Given the description of an element on the screen output the (x, y) to click on. 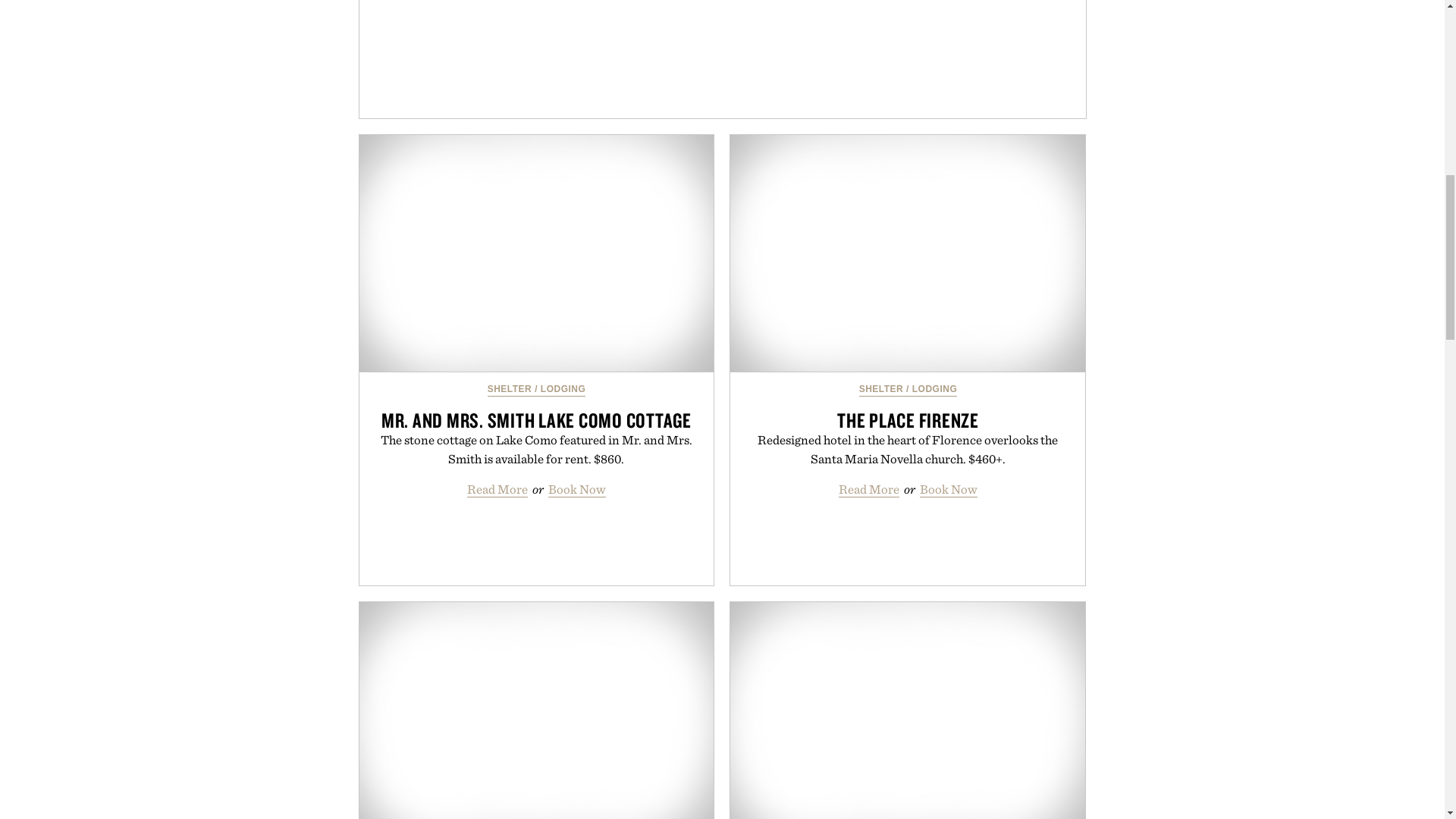
Trashie (907, 710)
3rd party ad content (725, 59)
The Place Firenze (907, 253)
Seiko Propsex Speedtimer SSC923 Night Vision Chronograph (536, 710)
Mr. and Mrs. Smith Lake Como Cottage (536, 253)
